Given the description of an element on the screen output the (x, y) to click on. 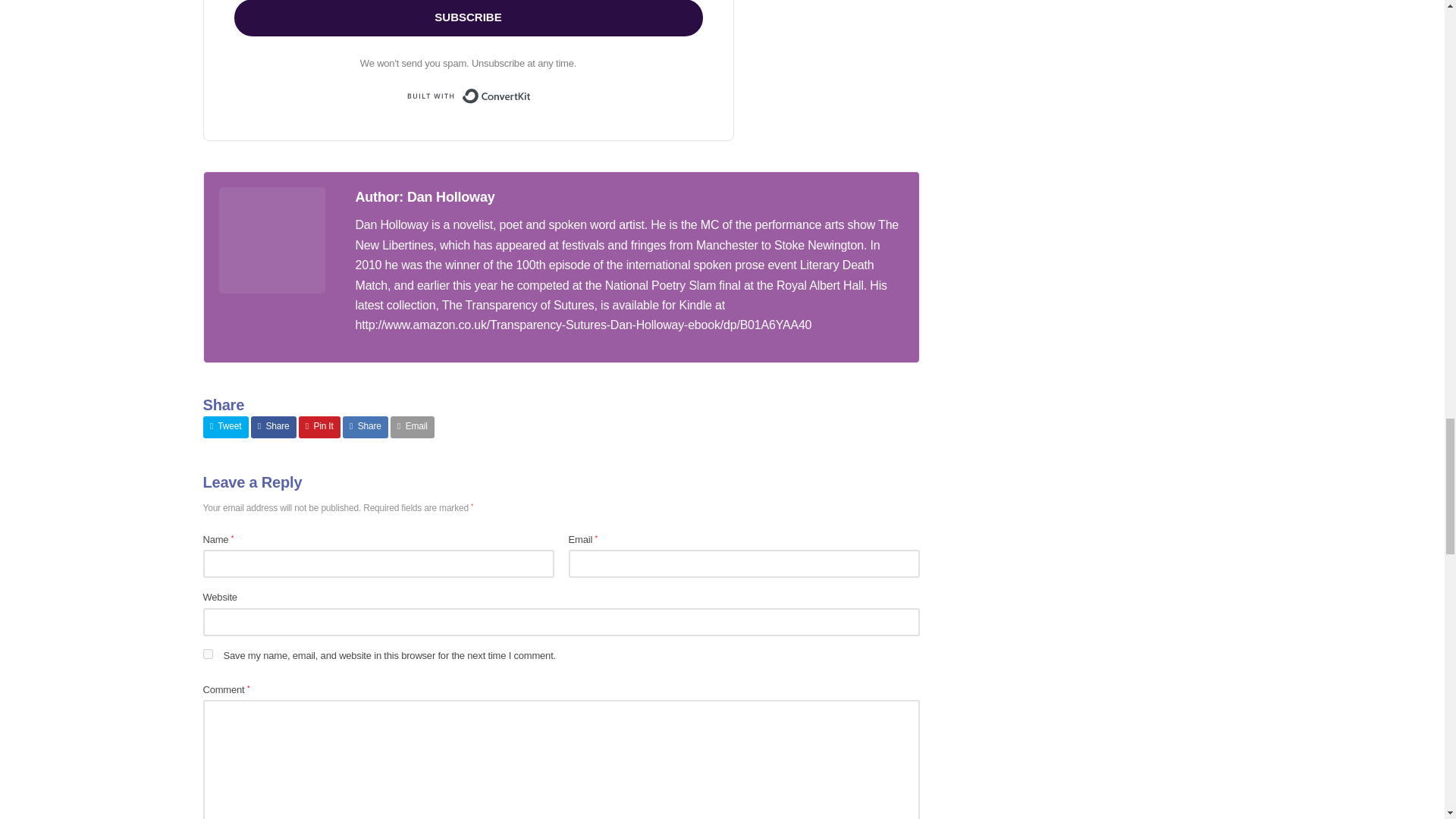
yes (207, 654)
Visit Author Page (271, 240)
Visit Author Page (425, 196)
